Given the description of an element on the screen output the (x, y) to click on. 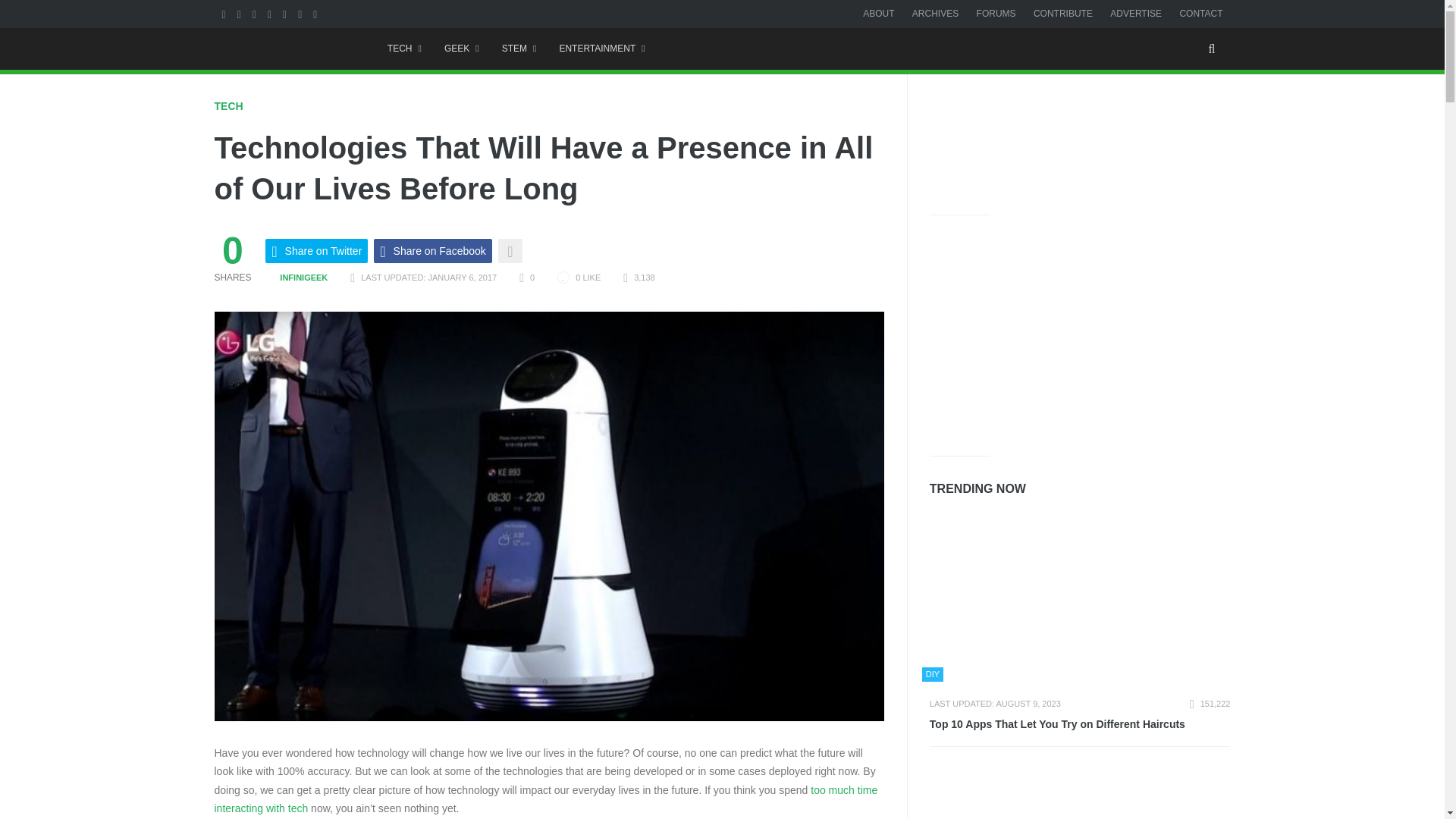
Share on Twitter (316, 250)
Entertainment (602, 48)
Share on Facebook (433, 250)
ADVERTISE (1135, 13)
ARCHIVES (935, 13)
ENTERTAINMENT (602, 48)
ABOUT (878, 13)
INFINIGEEK (295, 276)
CONTRIBUTE (1063, 13)
too much time interacting with tech (545, 798)
